Given the description of an element on the screen output the (x, y) to click on. 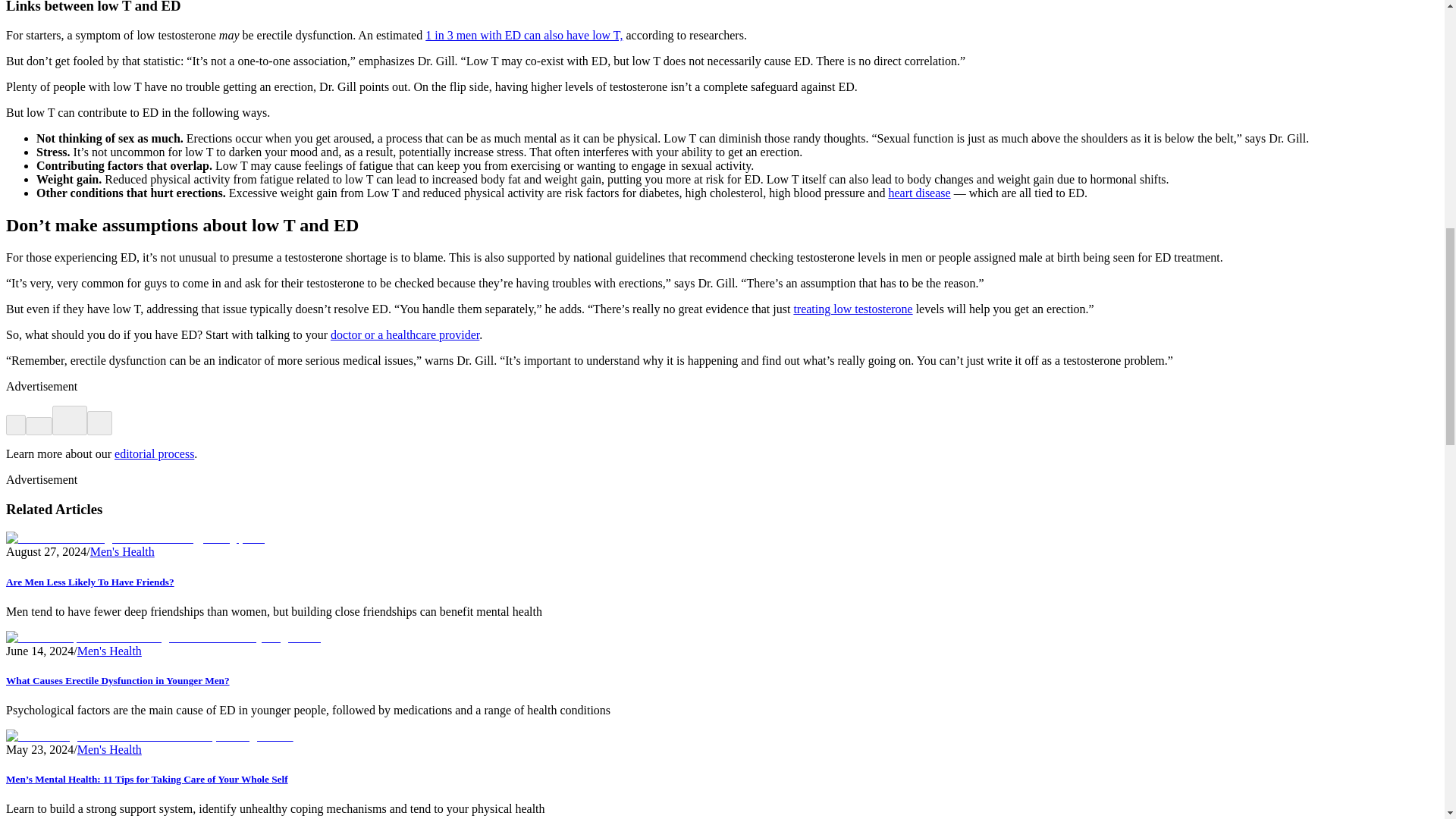
doctor or a healthcare provider (404, 334)
1 in 3 men with ED can also have low T, (524, 34)
heart disease (919, 192)
treating low testosterone (852, 308)
editorial process (154, 453)
